Given the description of an element on the screen output the (x, y) to click on. 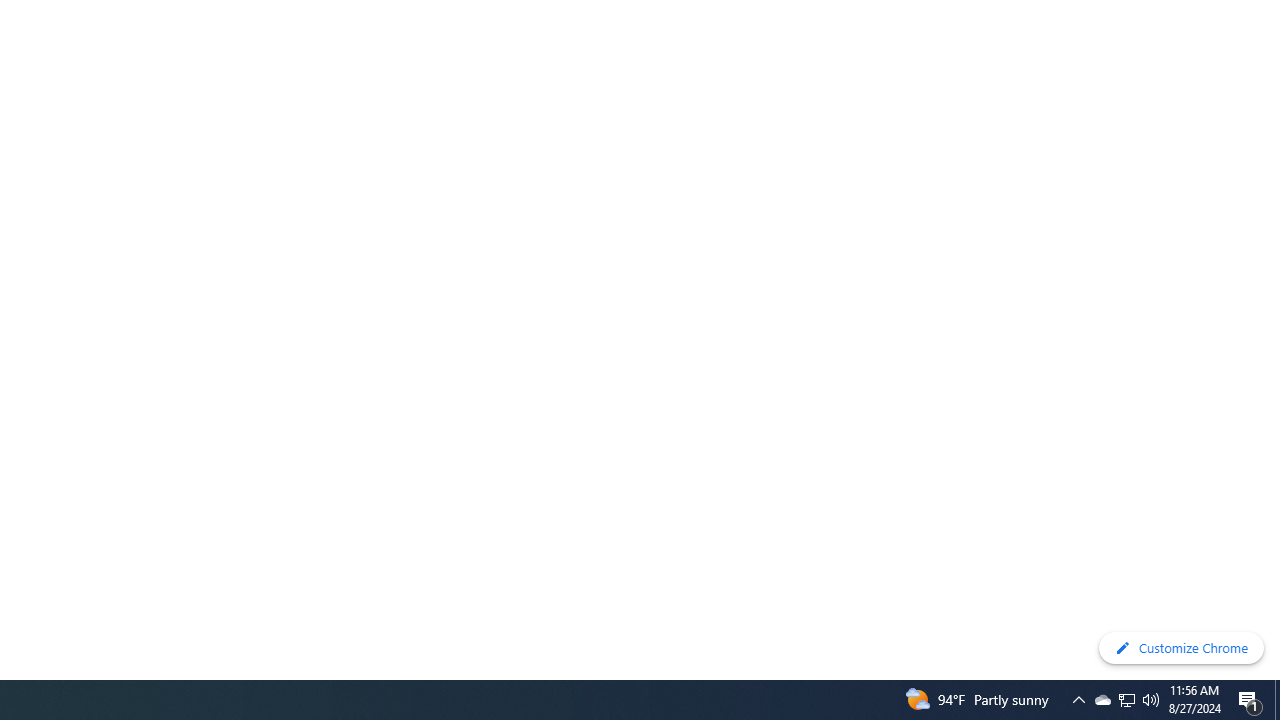
Customize Chrome (1181, 647)
